Given the description of an element on the screen output the (x, y) to click on. 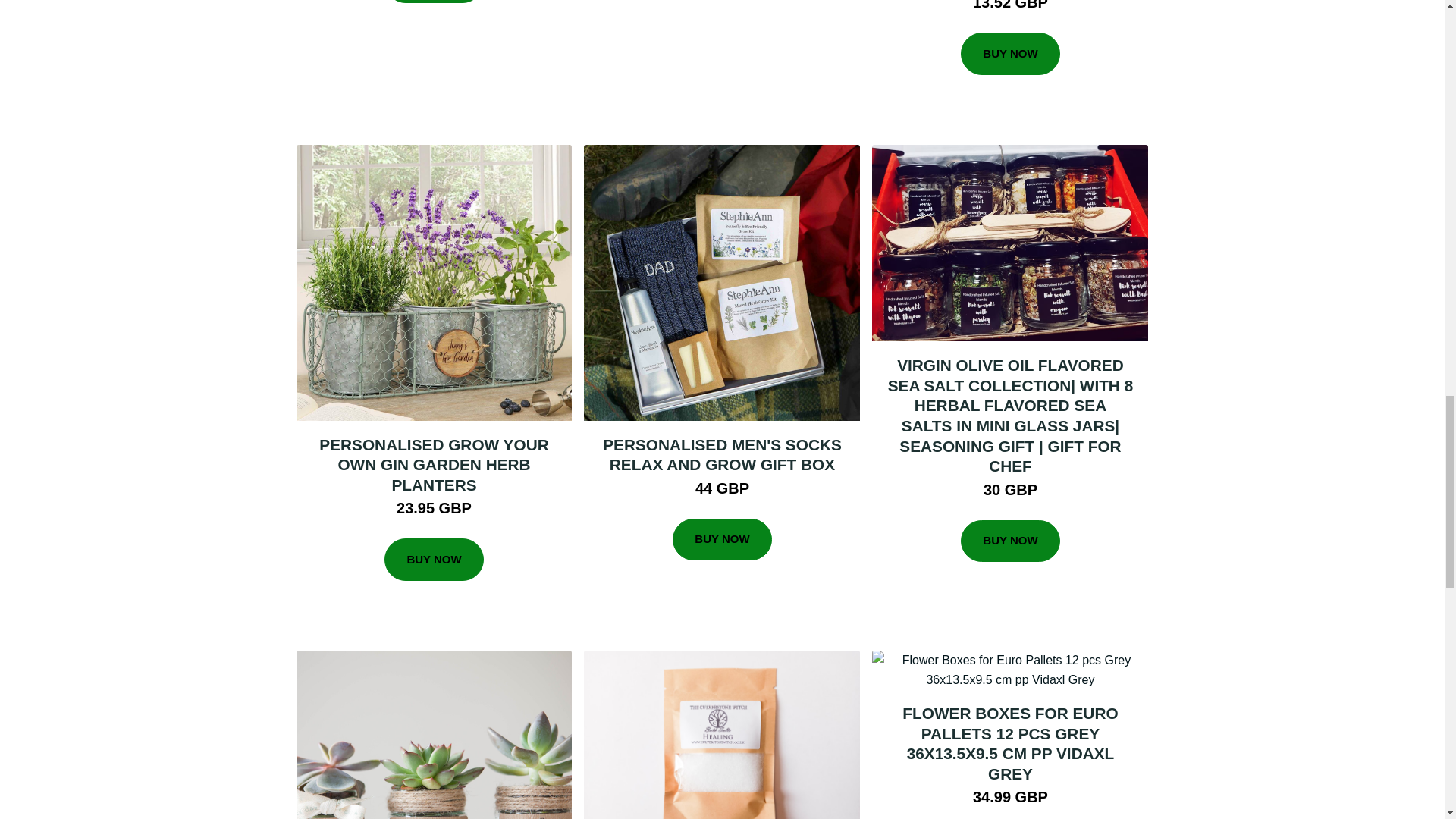
BUY NOW (433, 1)
BUY NOW (1009, 541)
BUY NOW (433, 559)
PERSONALISED MEN'S SOCKS RELAX AND GROW GIFT BOX (721, 454)
PERSONALISED GROW YOUR OWN GIN GARDEN HERB PLANTERS (433, 464)
BUY NOW (721, 539)
BUY NOW (1009, 53)
